Given the description of an element on the screen output the (x, y) to click on. 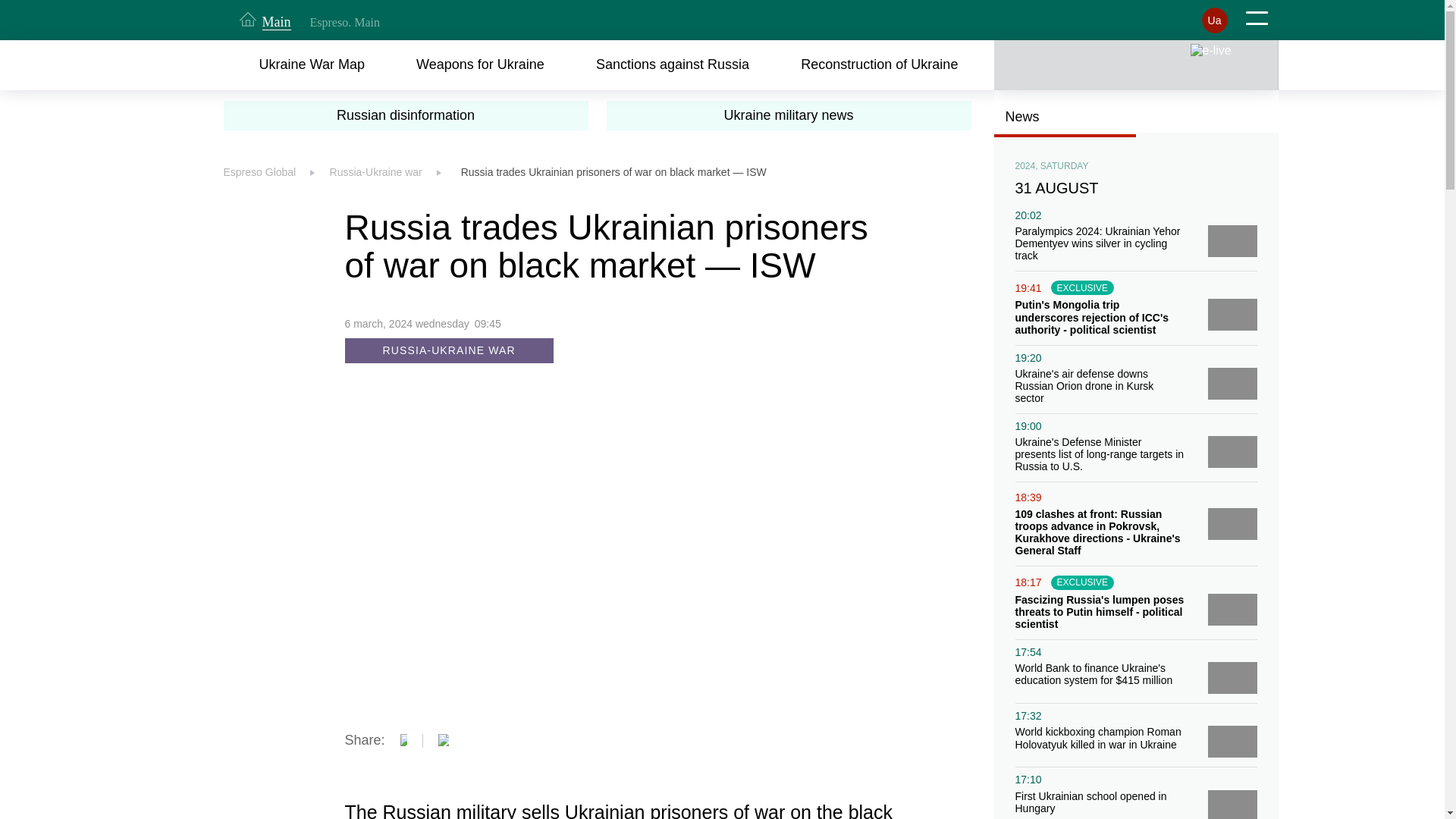
Espreso. Main (343, 22)
Ua (1214, 20)
Main (265, 19)
